Given the description of an element on the screen output the (x, y) to click on. 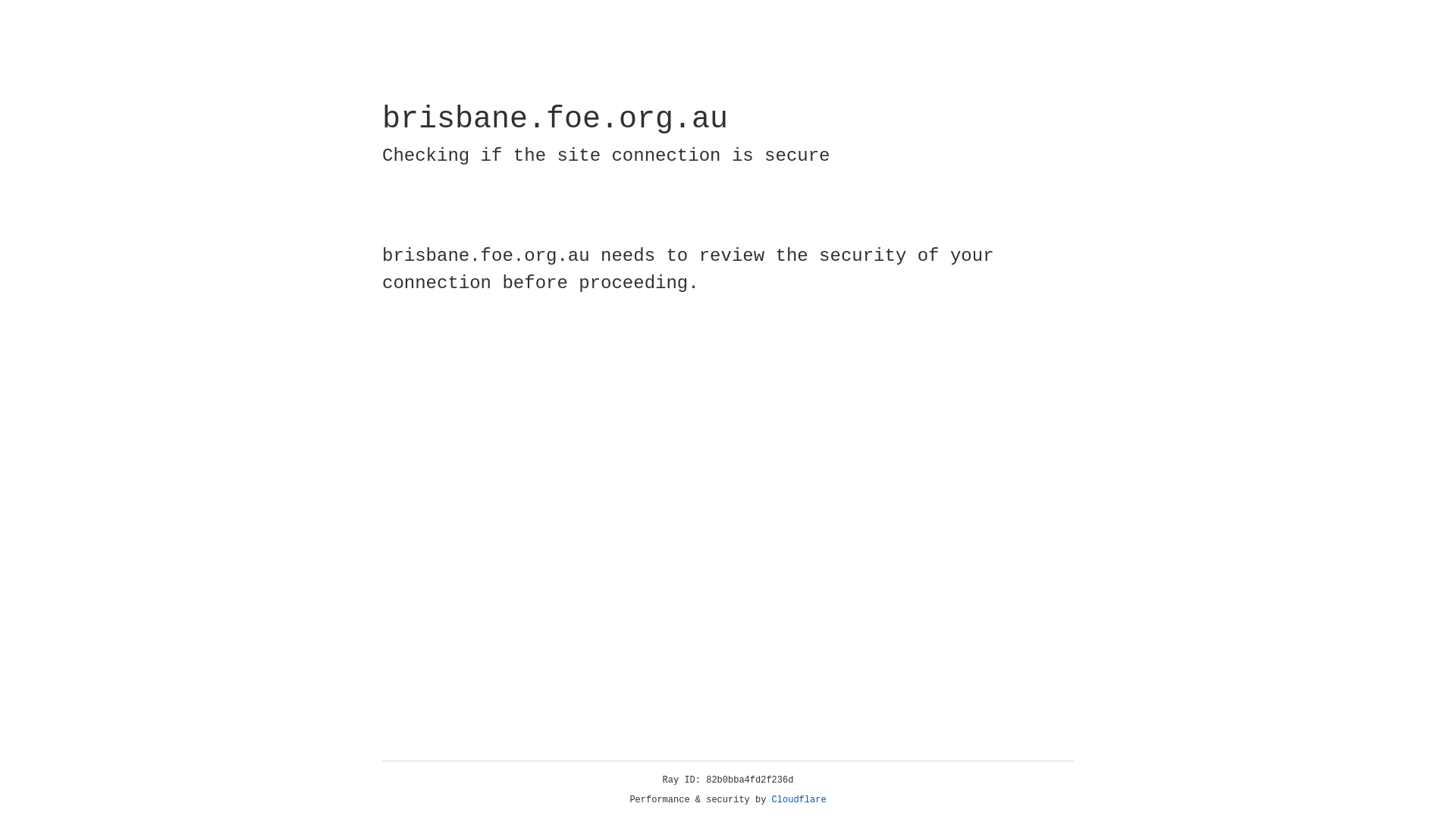
Cloudflare Element type: text (798, 799)
